Given the description of an element on the screen output the (x, y) to click on. 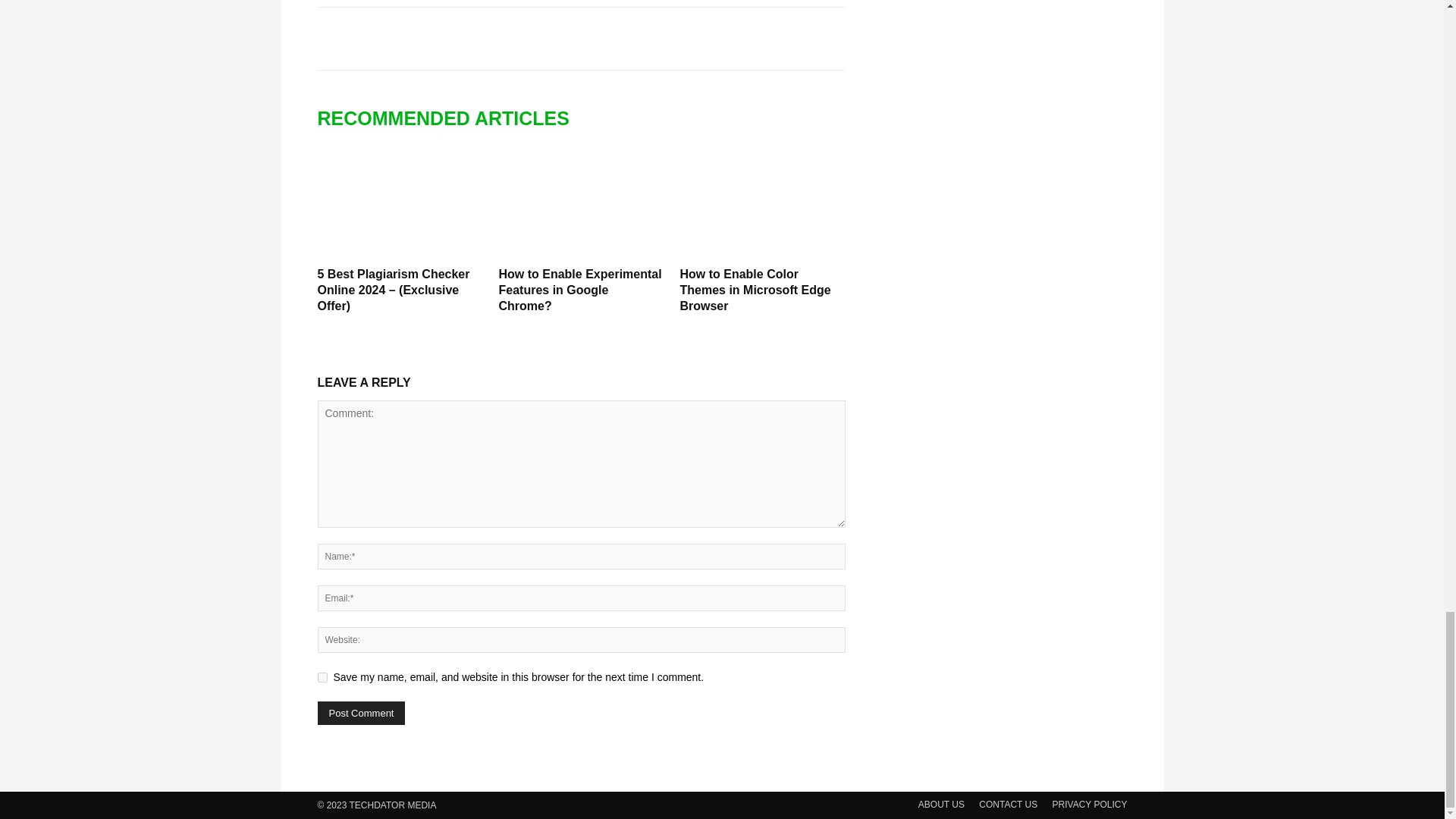
Post Comment (360, 712)
RECOMMENDED ARTICLES (450, 118)
yes (321, 677)
